Given the description of an element on the screen output the (x, y) to click on. 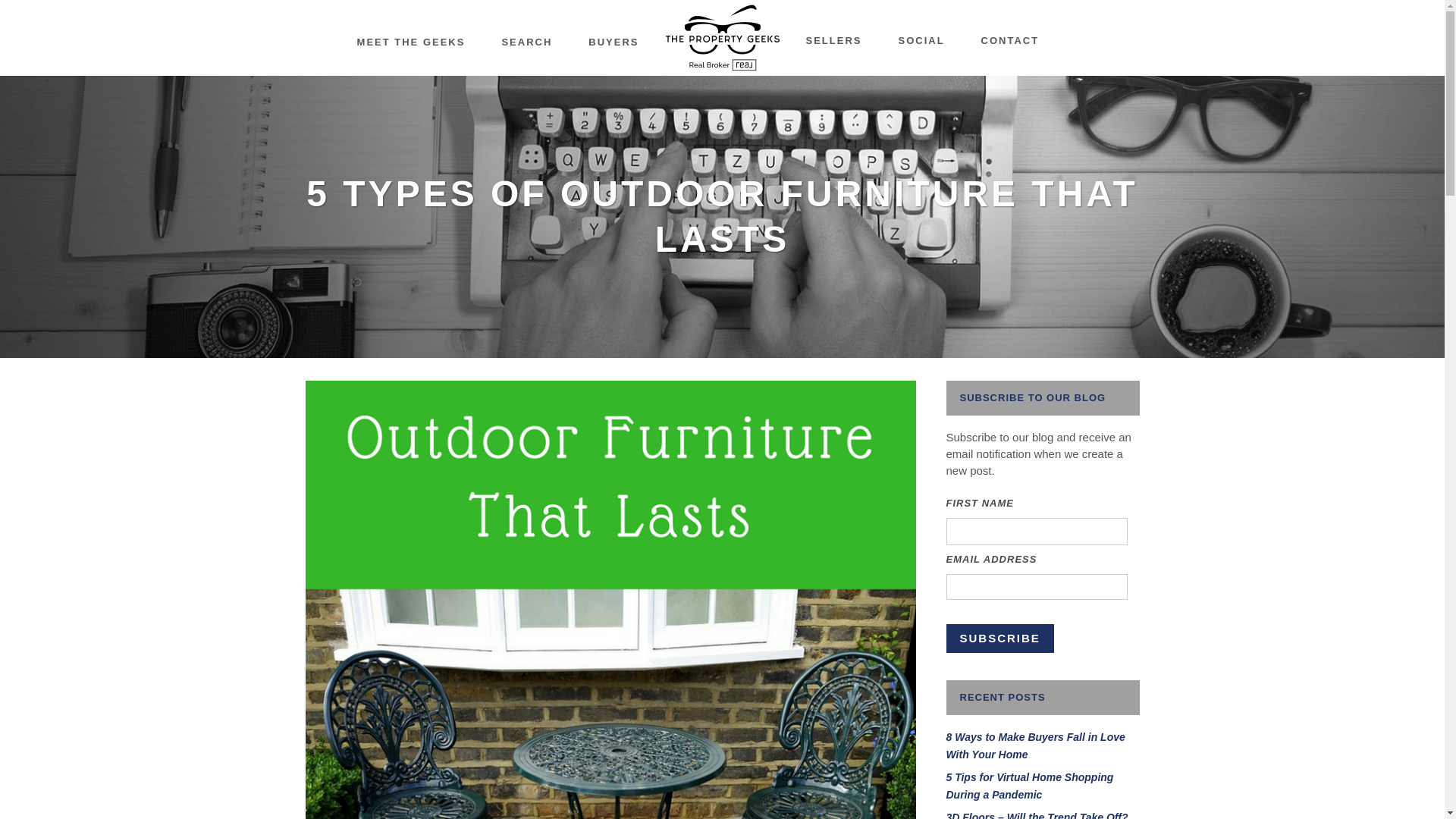
Sellers (833, 40)
SOCIAL (920, 40)
SEARCH (526, 42)
SELLERS (833, 40)
BUYERS (613, 42)
CONTACT (1010, 40)
Search (526, 42)
MEET THE GEEKS (411, 42)
Social (920, 40)
Subscribe (1000, 638)
